Given the description of an element on the screen output the (x, y) to click on. 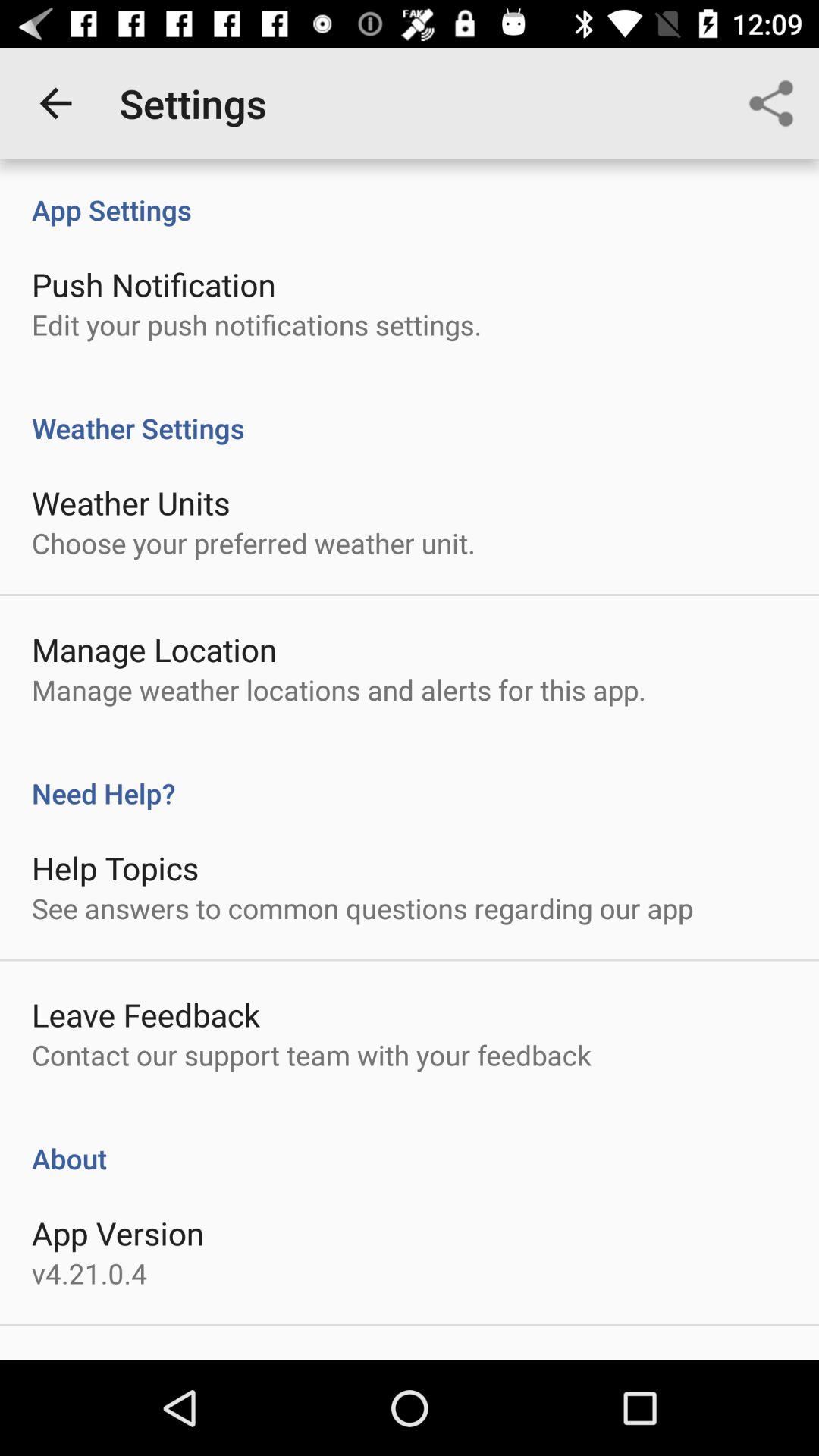
swipe until the edit your push icon (256, 324)
